Given the description of an element on the screen output the (x, y) to click on. 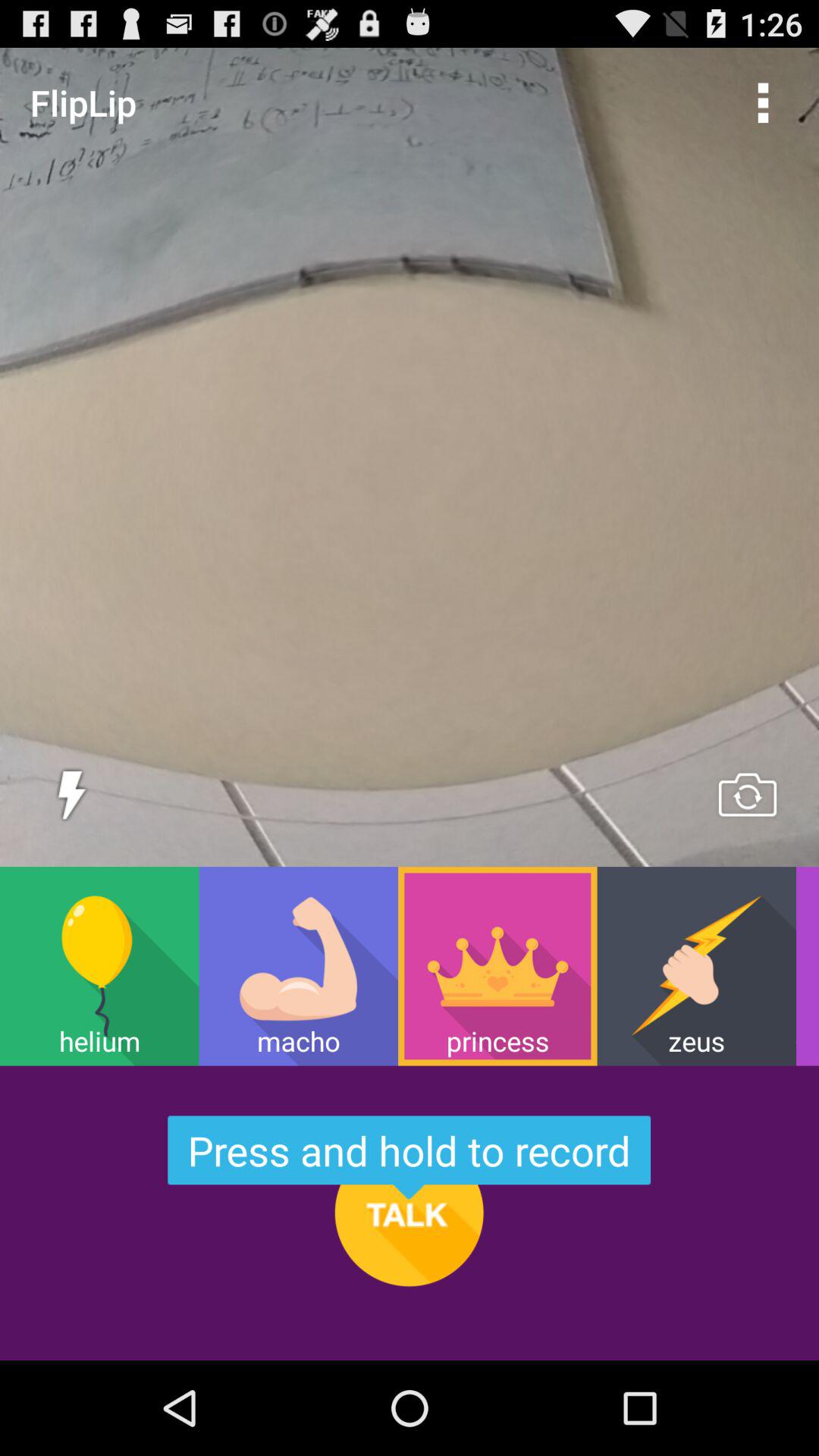
open the icon next to princess item (298, 965)
